Given the description of an element on the screen output the (x, y) to click on. 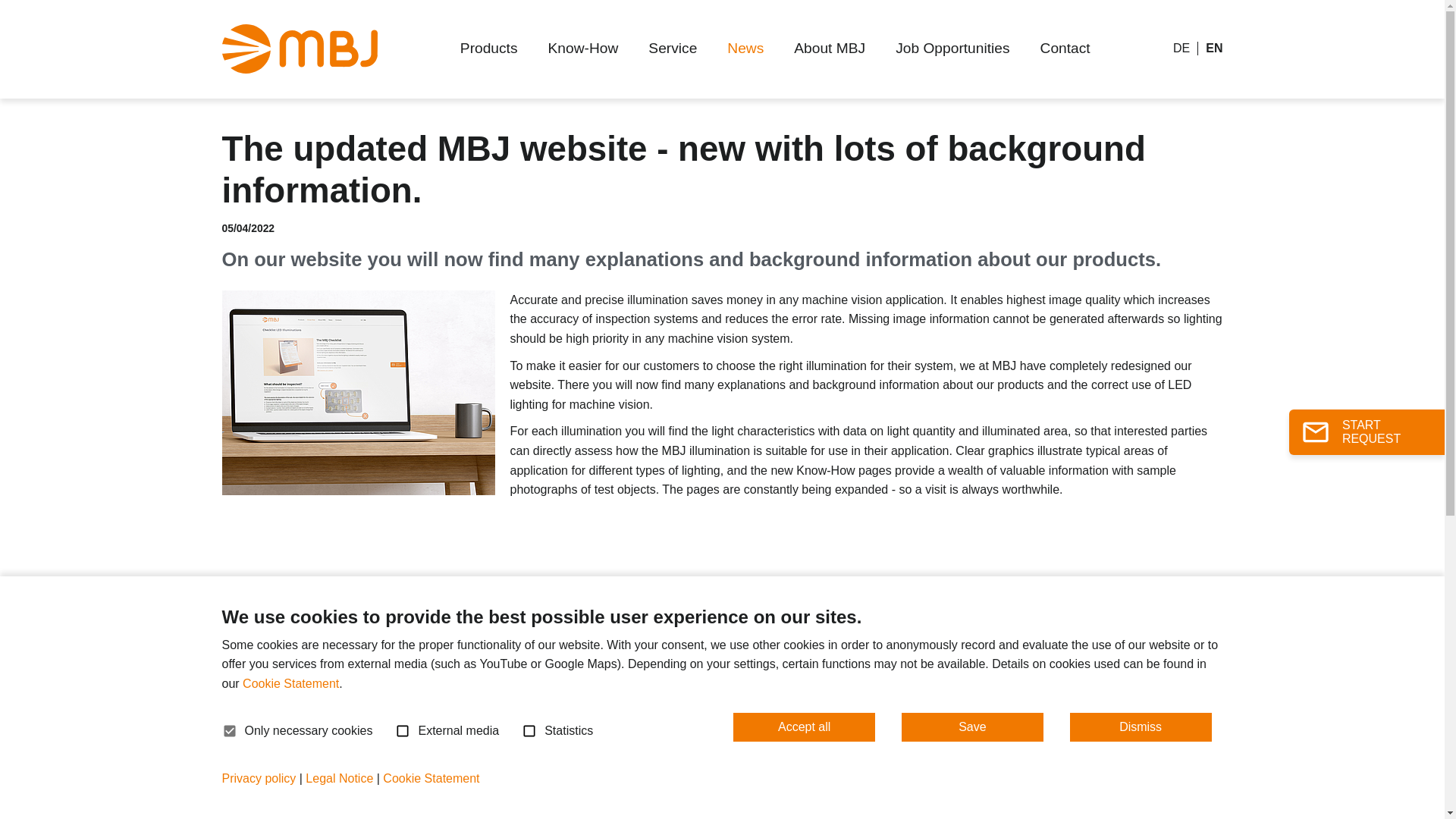
Service (672, 48)
MBJ Imaging (267, 808)
DE (1181, 48)
Job Opportunities (952, 48)
News (744, 48)
Contact (1065, 48)
Products (488, 48)
Know-How (582, 48)
About MBJ (829, 48)
